Given the description of an element on the screen output the (x, y) to click on. 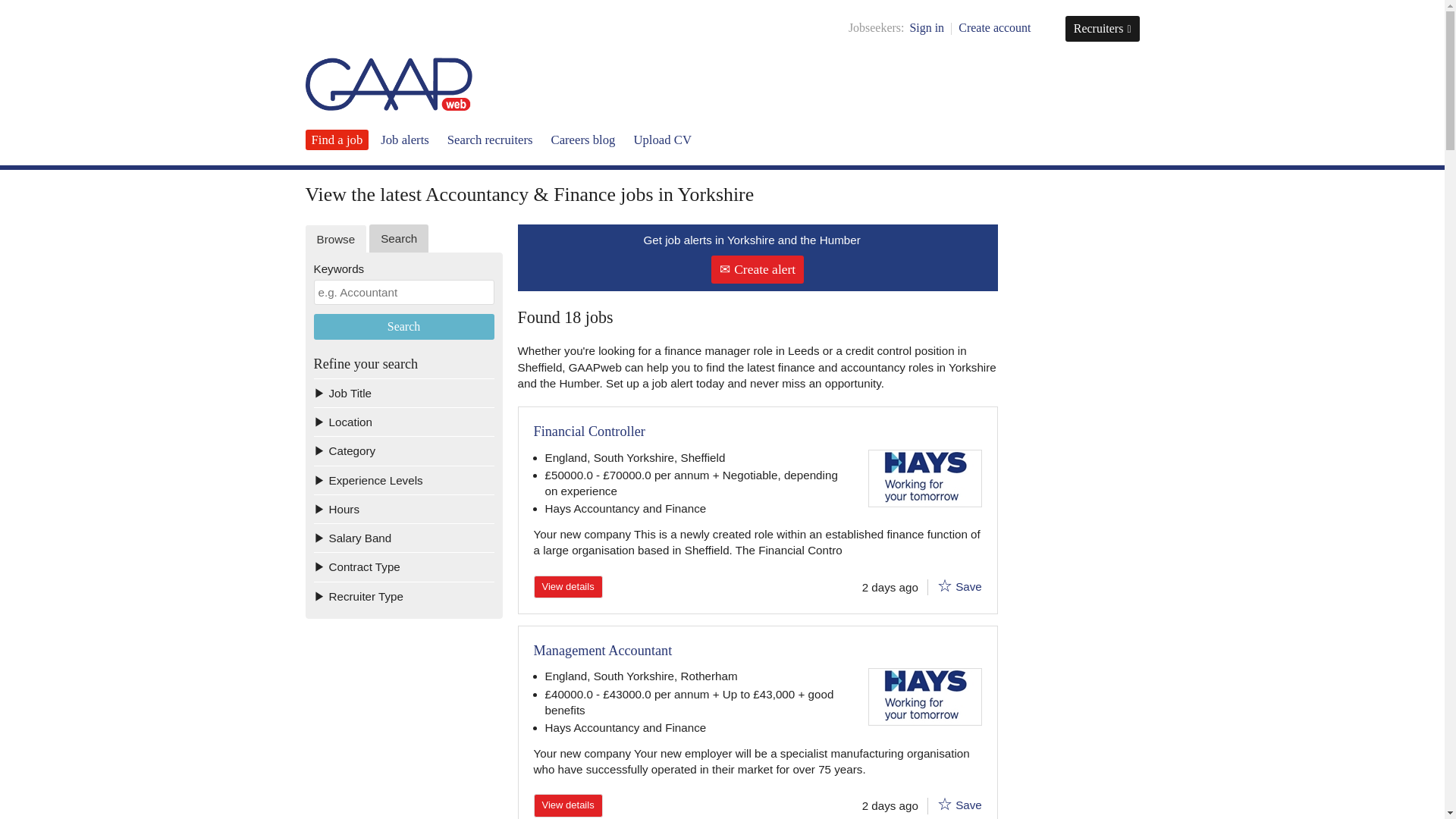
Add to shortlist (944, 803)
Browse (335, 239)
Job Title (404, 392)
Upload CV (662, 139)
Search recruiters (489, 139)
Recruiters (1102, 28)
GAAPweb (387, 83)
Job alerts (404, 139)
Search (404, 326)
Add to shortlist (944, 585)
Create account (994, 27)
Location (404, 421)
Search (398, 238)
Search (404, 326)
Careers blog (582, 139)
